Given the description of an element on the screen output the (x, y) to click on. 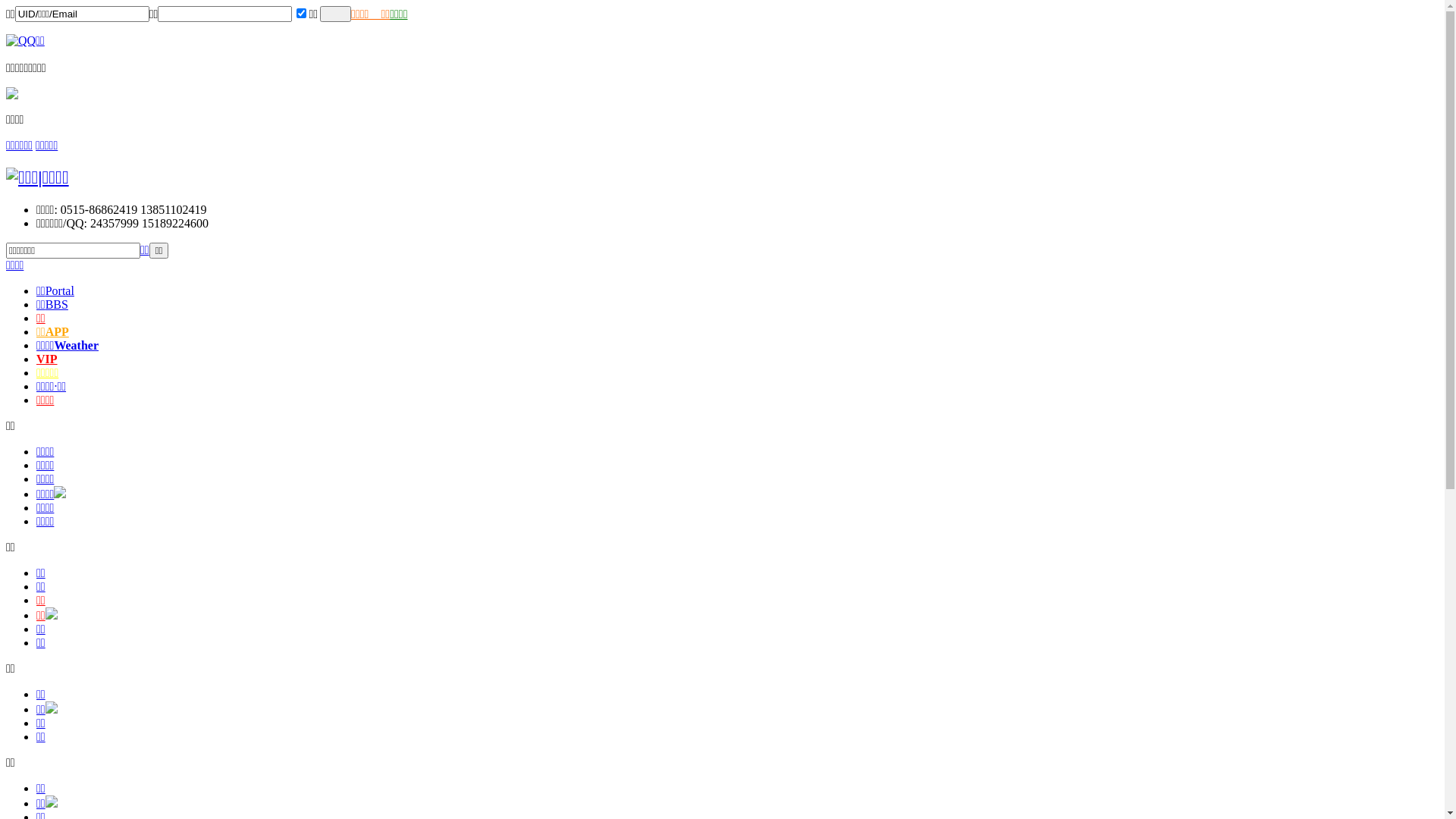
     Element type: text (335, 13)
VIP Element type: text (46, 358)
